Given the description of an element on the screen output the (x, y) to click on. 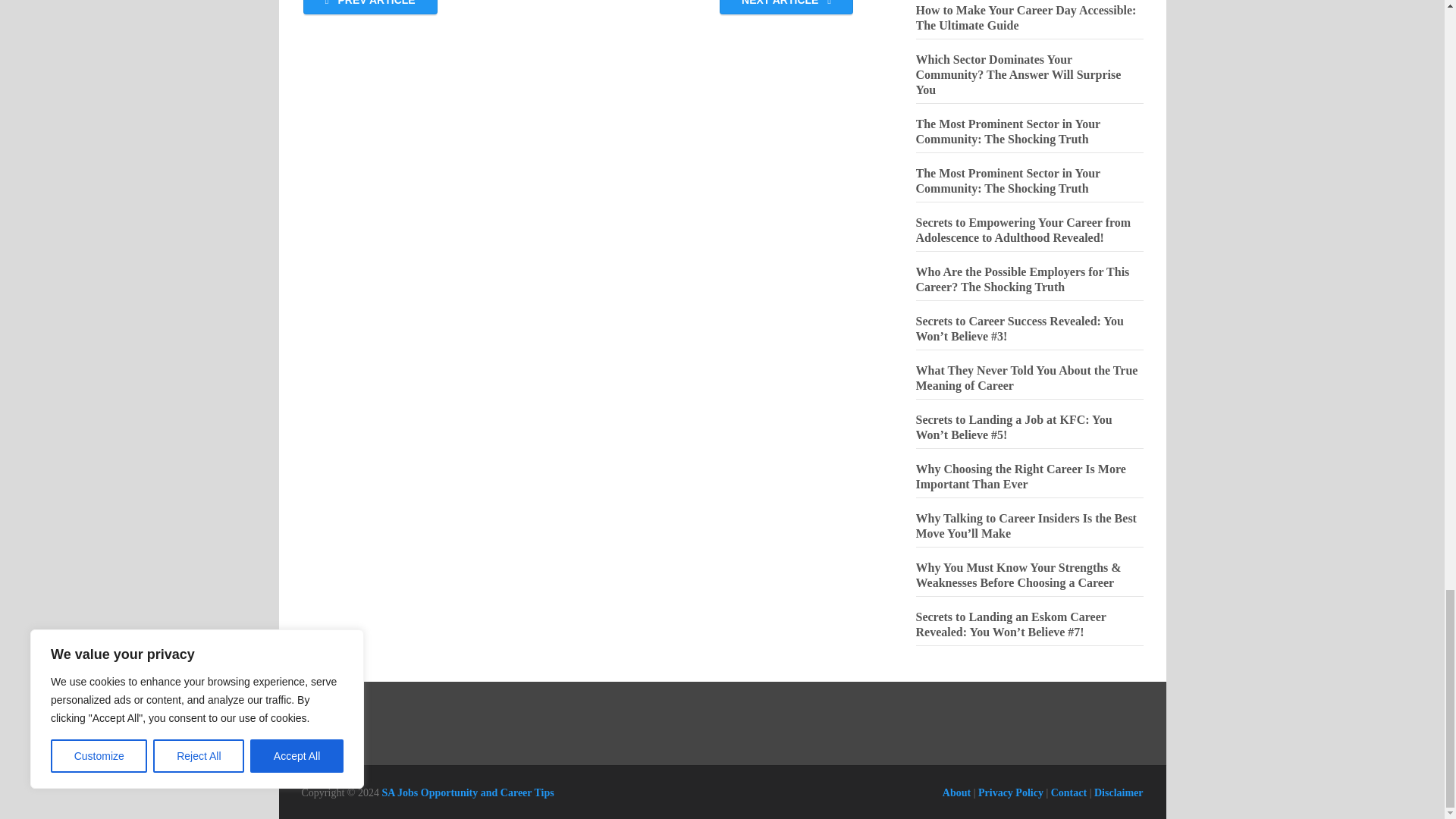
NEXT ARTICLE (786, 7)
 Latest Learnerships, Internships, and Vacancies (467, 792)
PREV ARTICLE (370, 7)
